Given the description of an element on the screen output the (x, y) to click on. 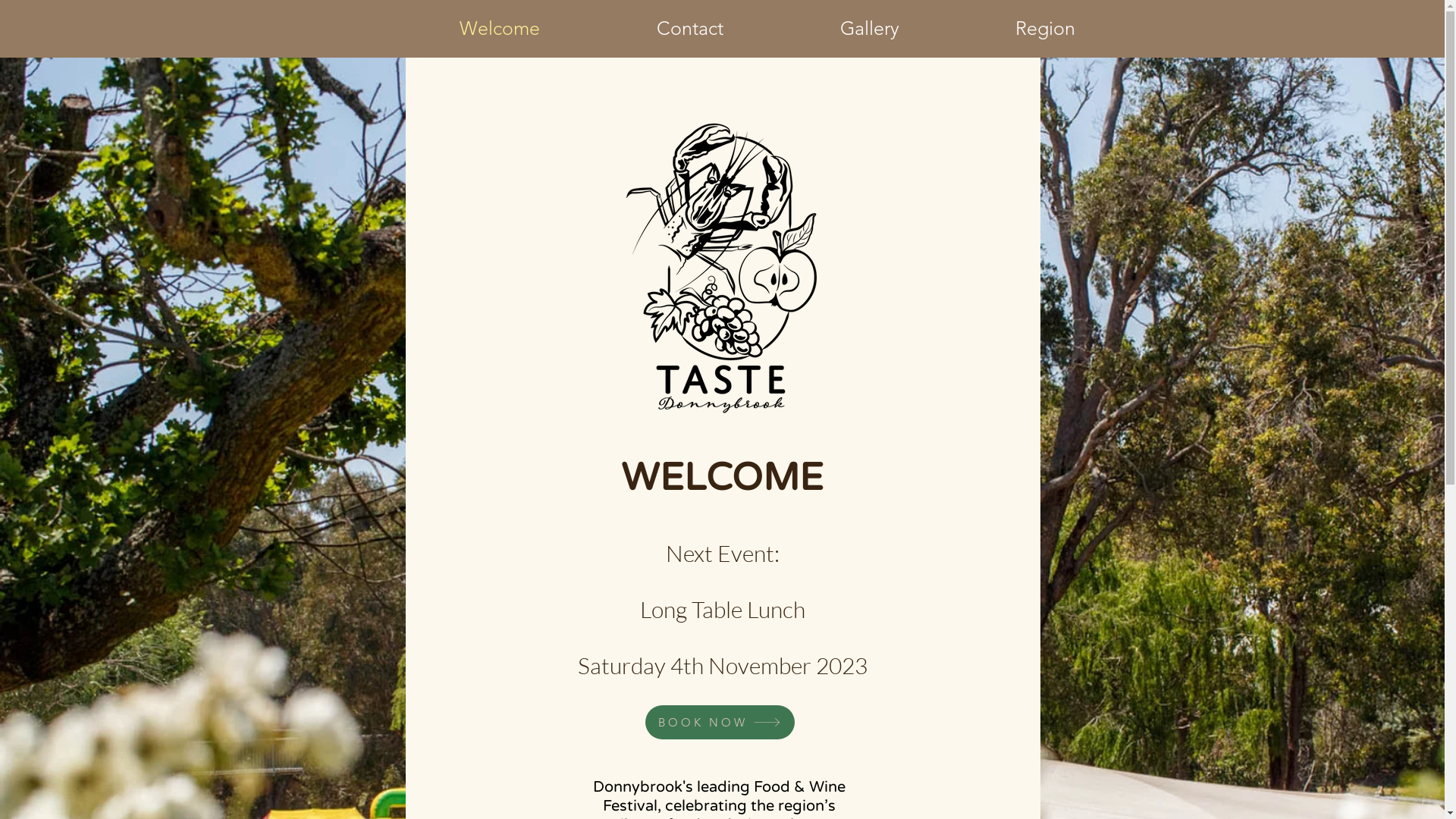
BOOK NOW Element type: text (719, 722)
Contact Element type: text (639, 28)
Gallery Element type: text (818, 28)
Region Element type: text (994, 28)
Welcome Element type: text (448, 28)
